Given the description of an element on the screen output the (x, y) to click on. 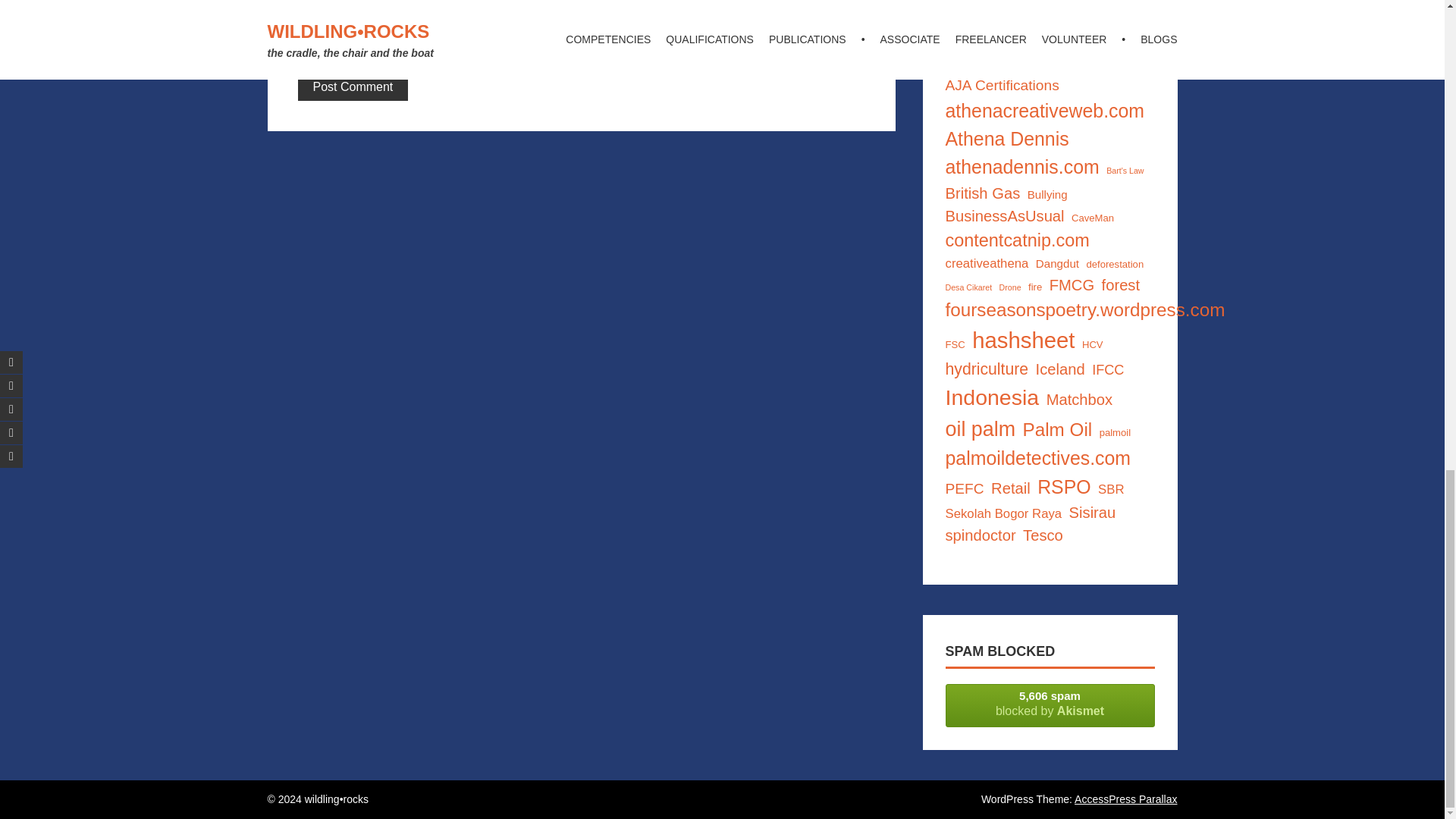
Post Comment (352, 86)
Post Comment (352, 86)
WordPress Free Themes (1125, 799)
